Given the description of an element on the screen output the (x, y) to click on. 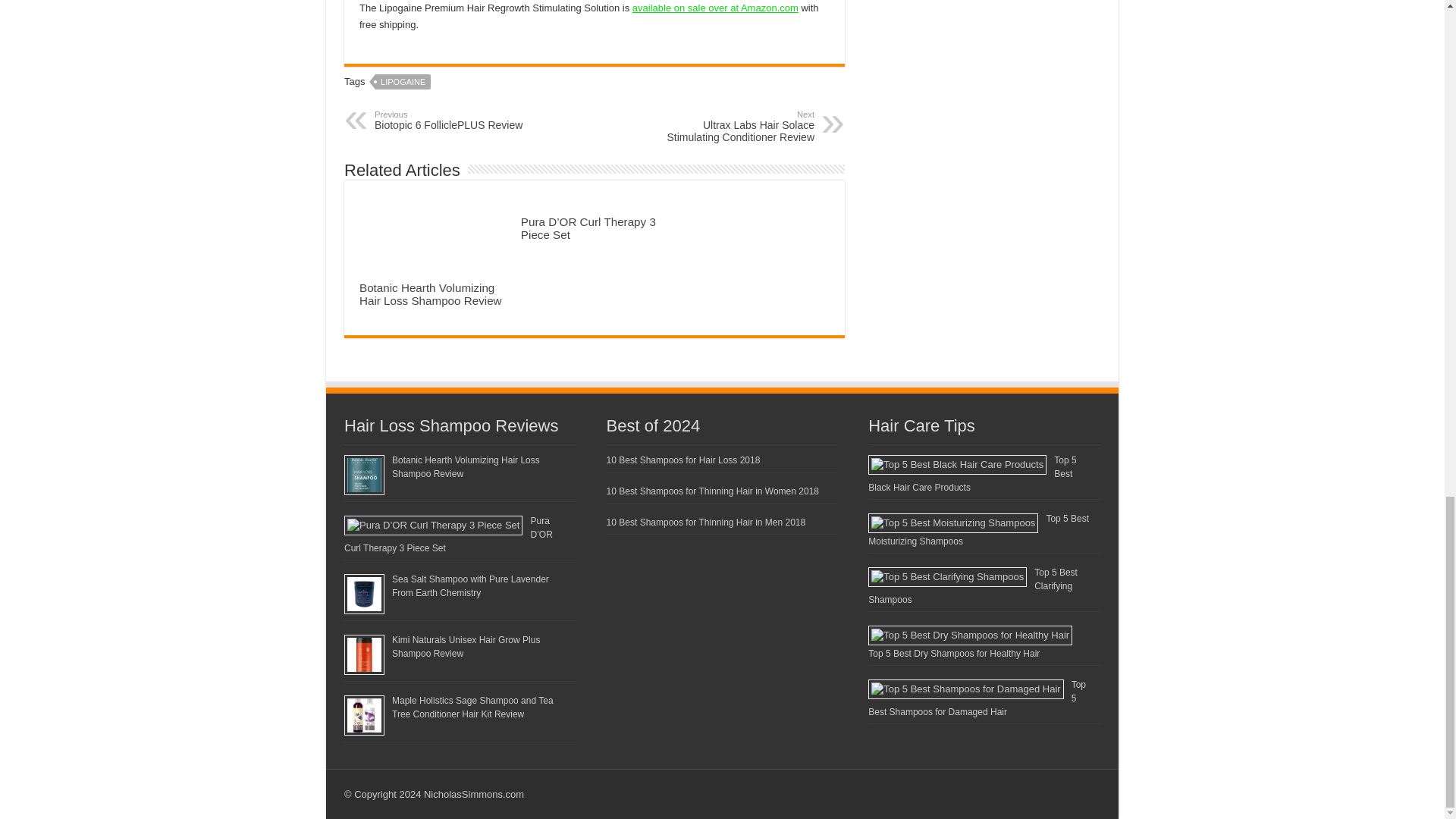
Botanic Hearth Volumizing Hair Loss Shampoo Review (430, 294)
available on sale over at Amazon.com (451, 120)
LIPOGAINE (736, 126)
